Given the description of an element on the screen output the (x, y) to click on. 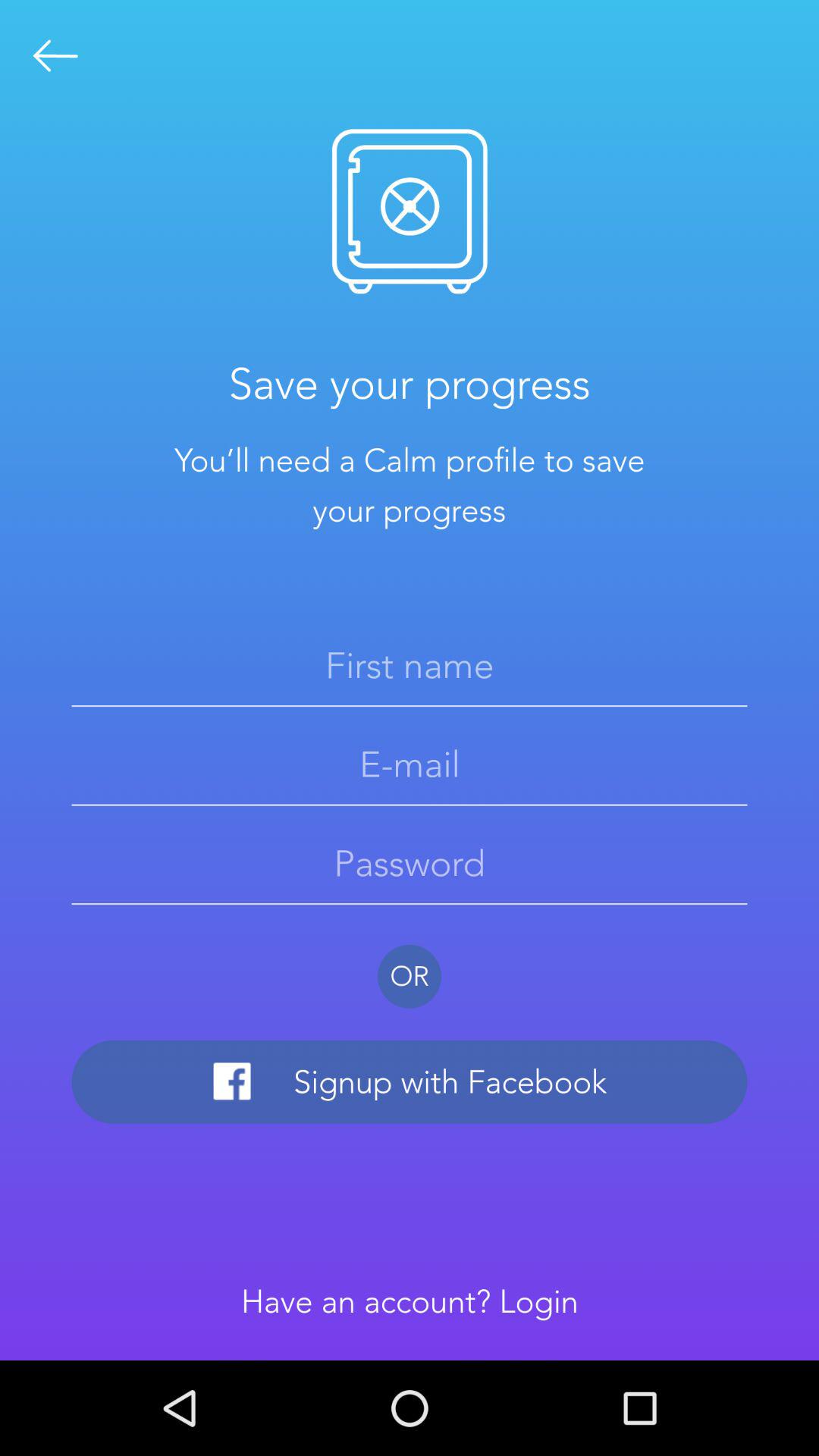
input first name (409, 664)
